Given the description of an element on the screen output the (x, y) to click on. 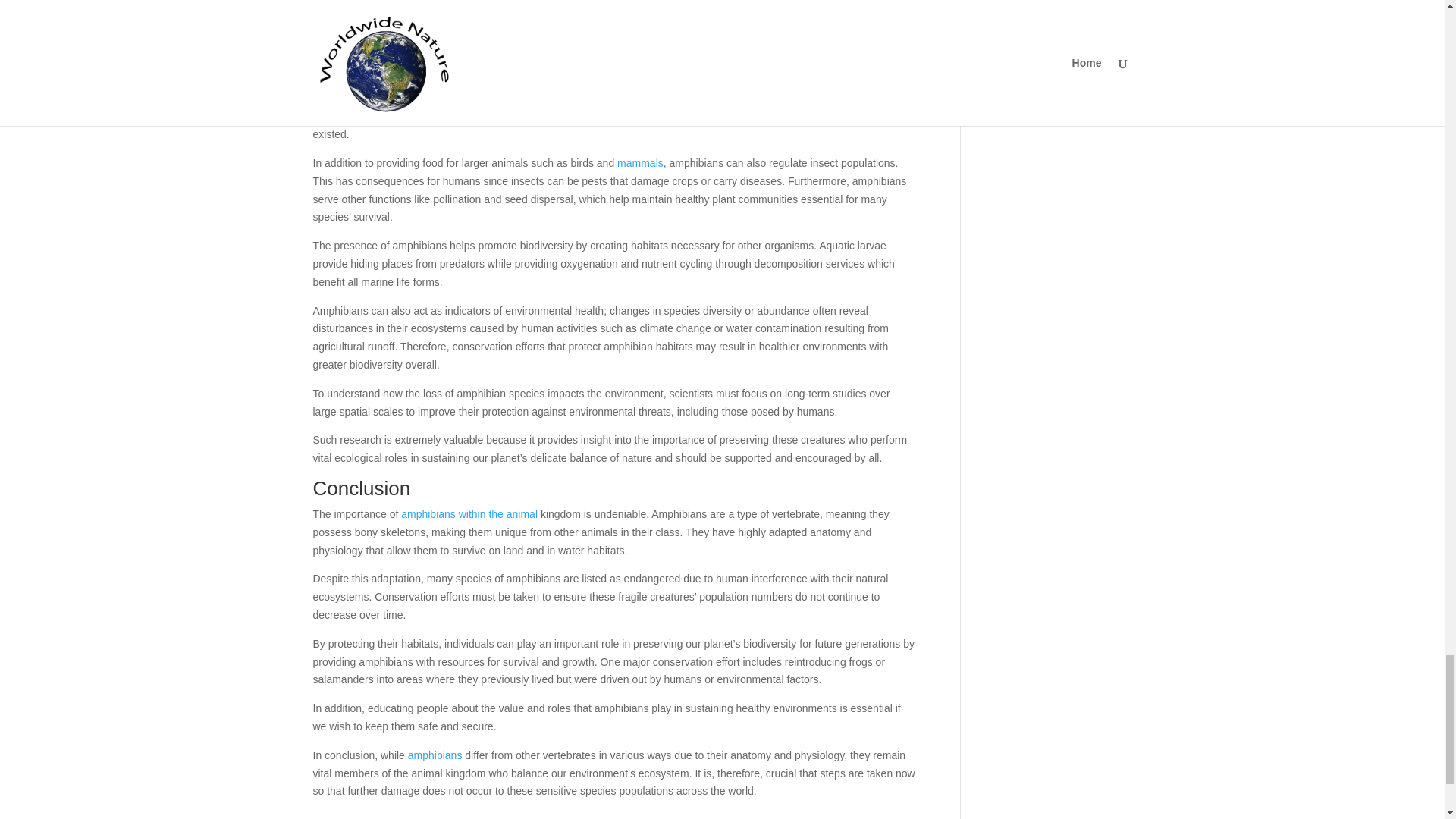
amphibians (435, 755)
mammals (640, 162)
amphibians within the animal (469, 513)
mammals (640, 162)
